Given the description of an element on the screen output the (x, y) to click on. 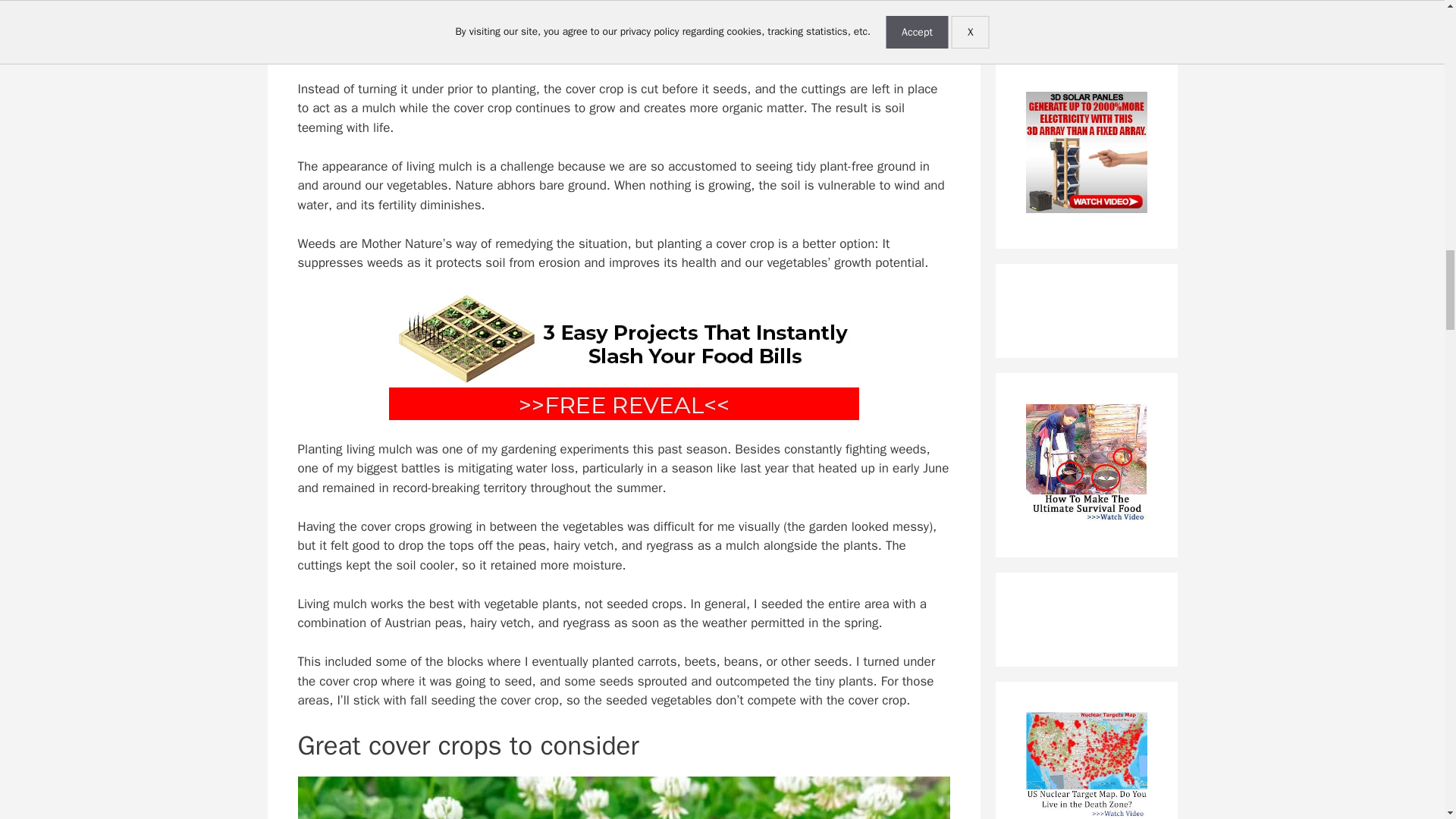
250X250 V2 (1086, 155)
